Given the description of an element on the screen output the (x, y) to click on. 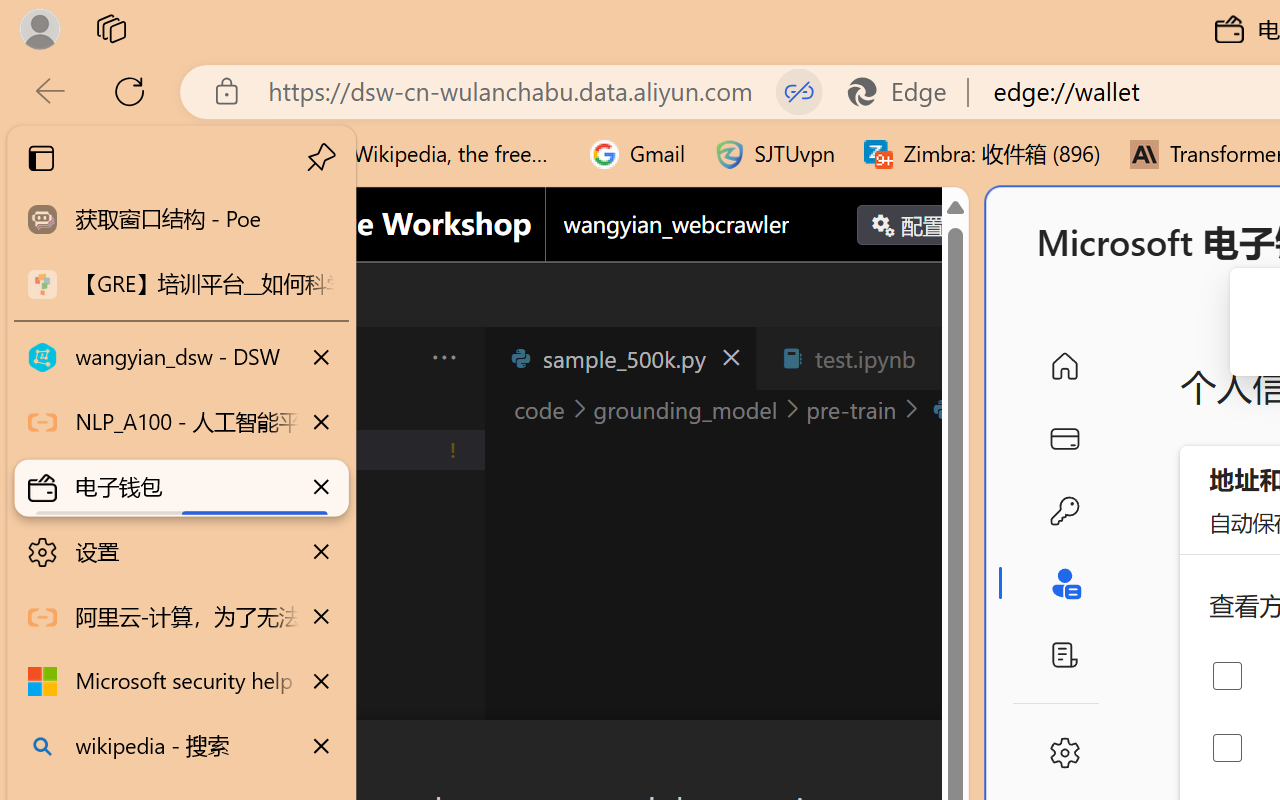
test.ipynb (864, 358)
Application Menu (135, 358)
Class: actions-container (529, 756)
wangyian_dsw - DSW (181, 357)
sample_500k.py (619, 358)
